Given the description of an element on the screen output the (x, y) to click on. 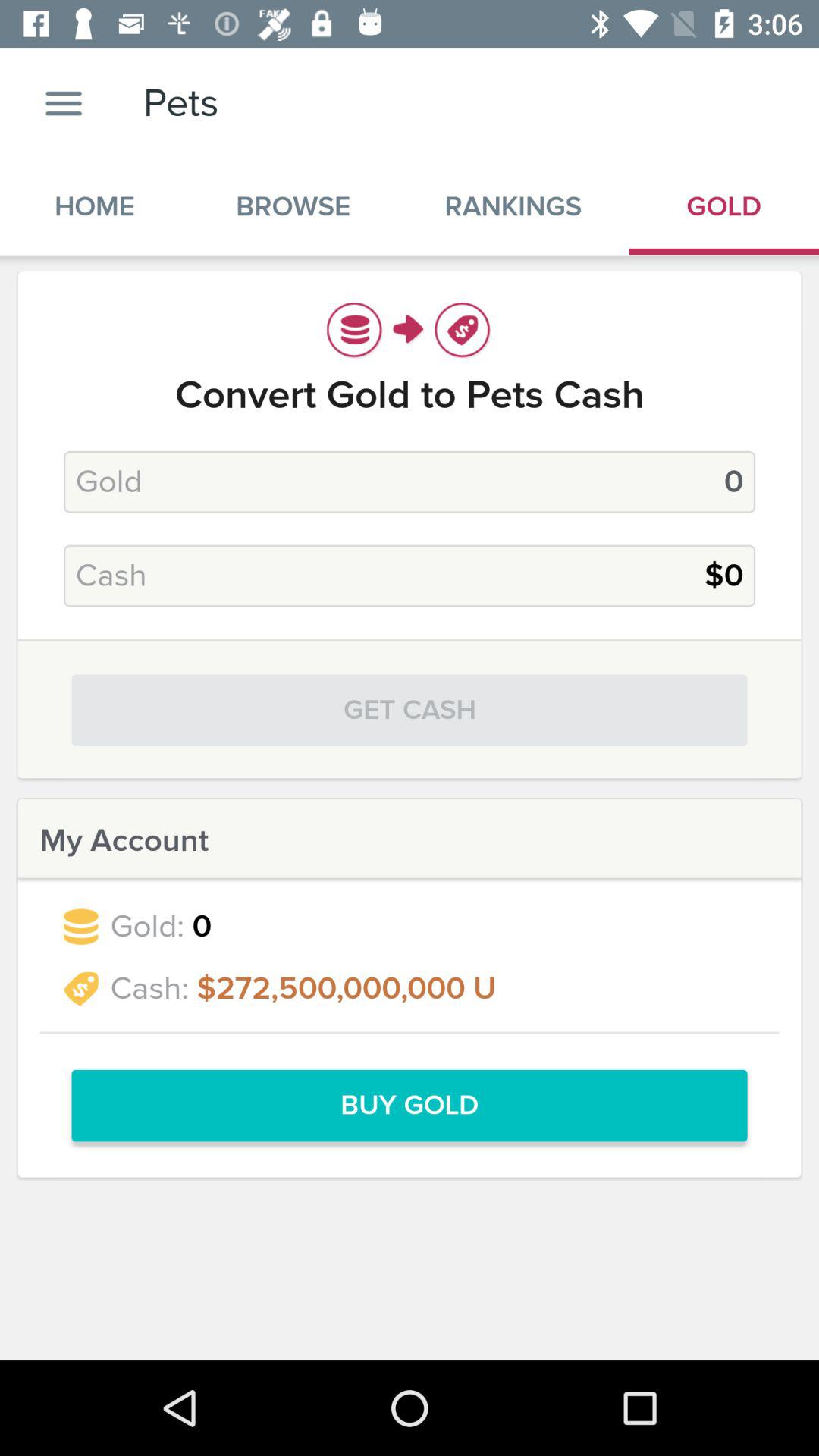
menu box (63, 103)
